Given the description of an element on the screen output the (x, y) to click on. 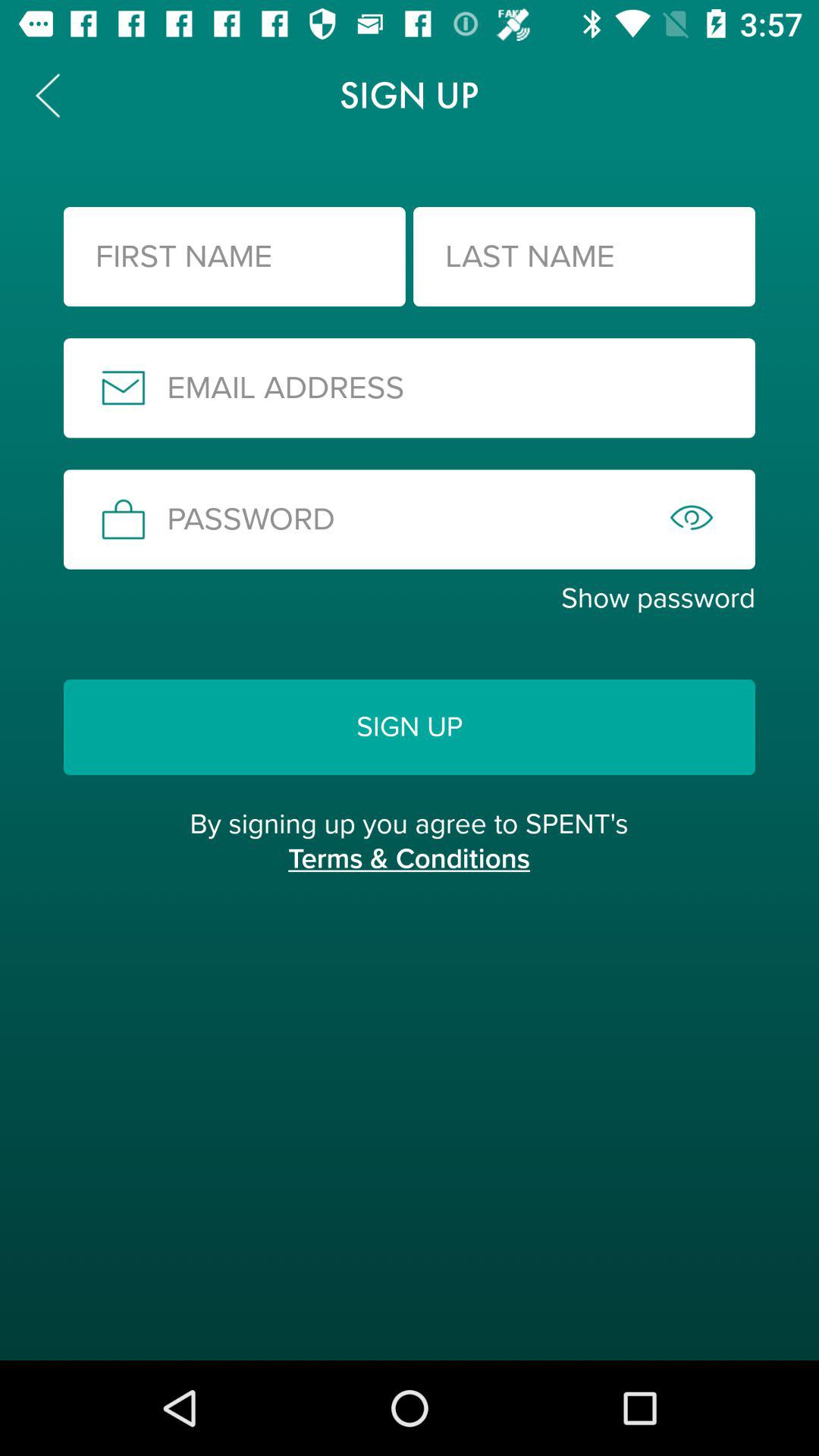
turn on the item next to sign up icon (47, 95)
